Given the description of an element on the screen output the (x, y) to click on. 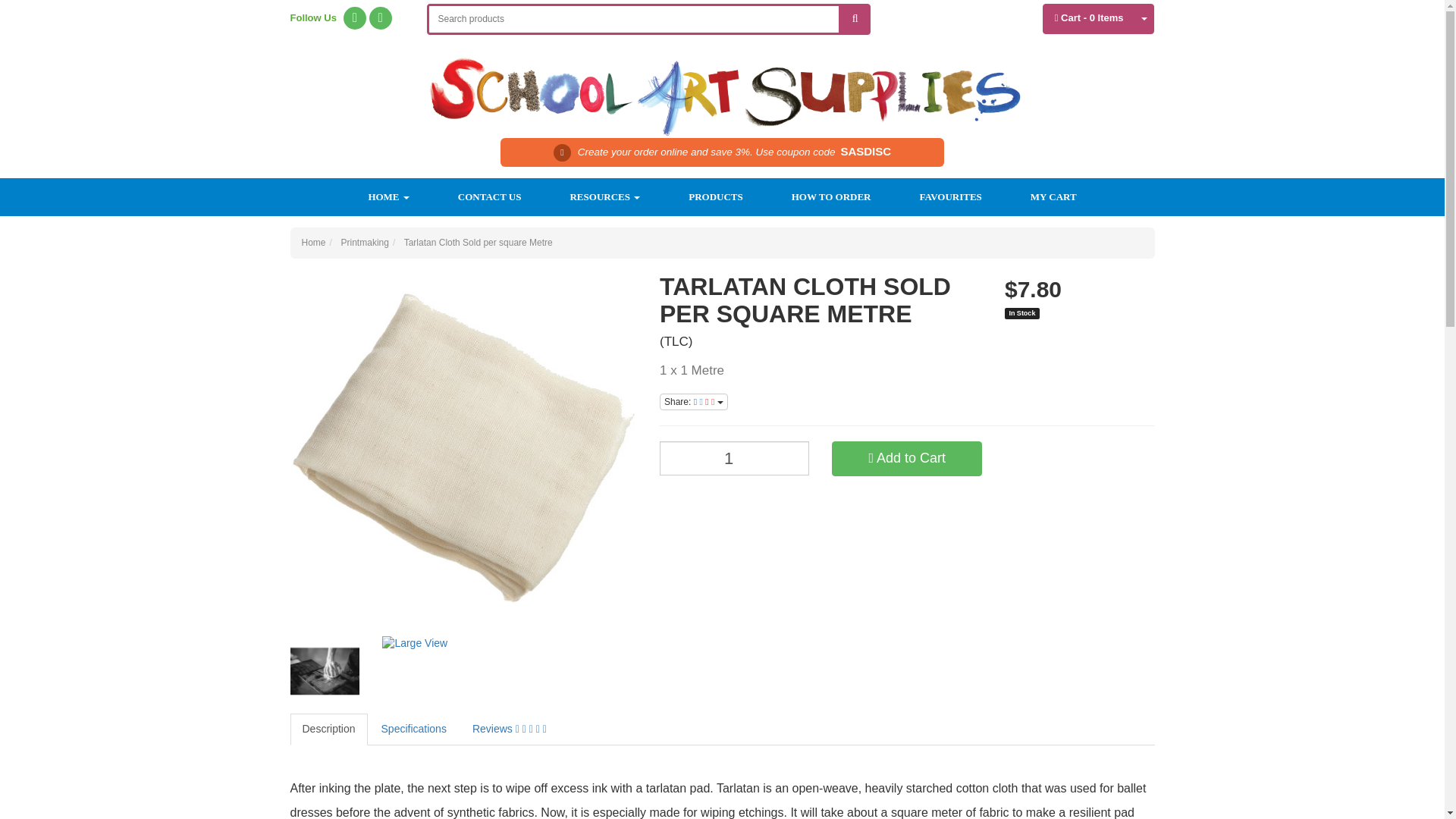
Large View (416, 643)
School Art Supplies (722, 87)
FAVOURITES (950, 197)
RESOURCES (603, 197)
Cart - 0 Items (1088, 19)
Add to Cart (906, 458)
HOW TO ORDER (831, 197)
HOME (387, 197)
MY CART (1053, 197)
1 (734, 458)
